Given the description of an element on the screen output the (x, y) to click on. 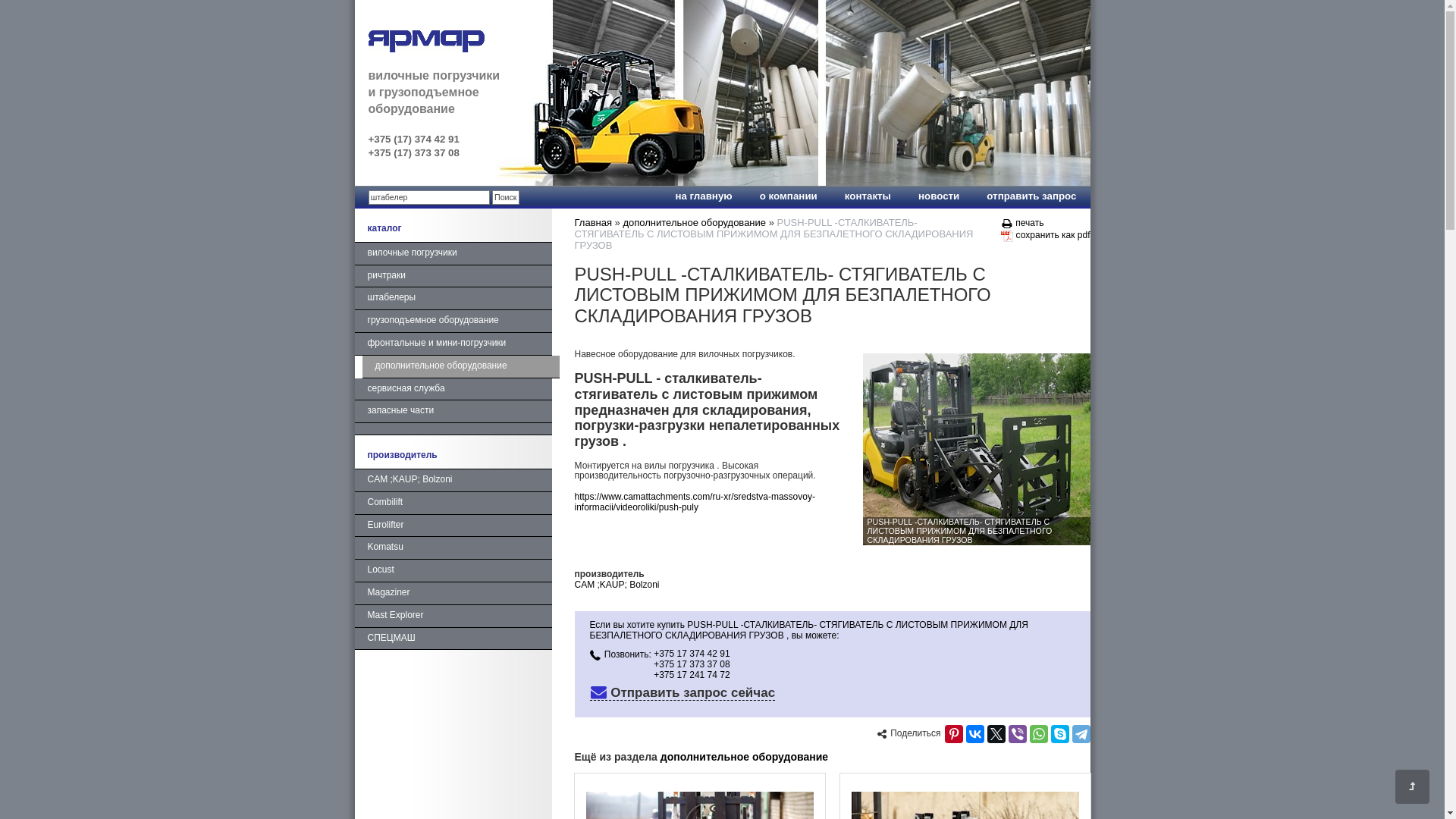
Combilift Element type: text (453, 503)
Komatsu Element type: text (453, 547)
Eurolifter Element type: text (453, 525)
Telegram Element type: hover (1081, 733)
Mast Explorer Element type: text (453, 616)
+375 17 373 37 08 Element type: text (691, 663)
WhatsApp Element type: hover (1038, 733)
Twitter Element type: hover (996, 733)
Pinterest Element type: hover (953, 733)
Skype Element type: hover (1060, 733)
Viber Element type: hover (1017, 733)
+375 17 374 42 91 Element type: text (691, 653)
Magaziner Element type: text (453, 593)
Locust Element type: text (453, 570)
+375 17 241 74 72 Element type: text (691, 674)
